Given the description of an element on the screen output the (x, y) to click on. 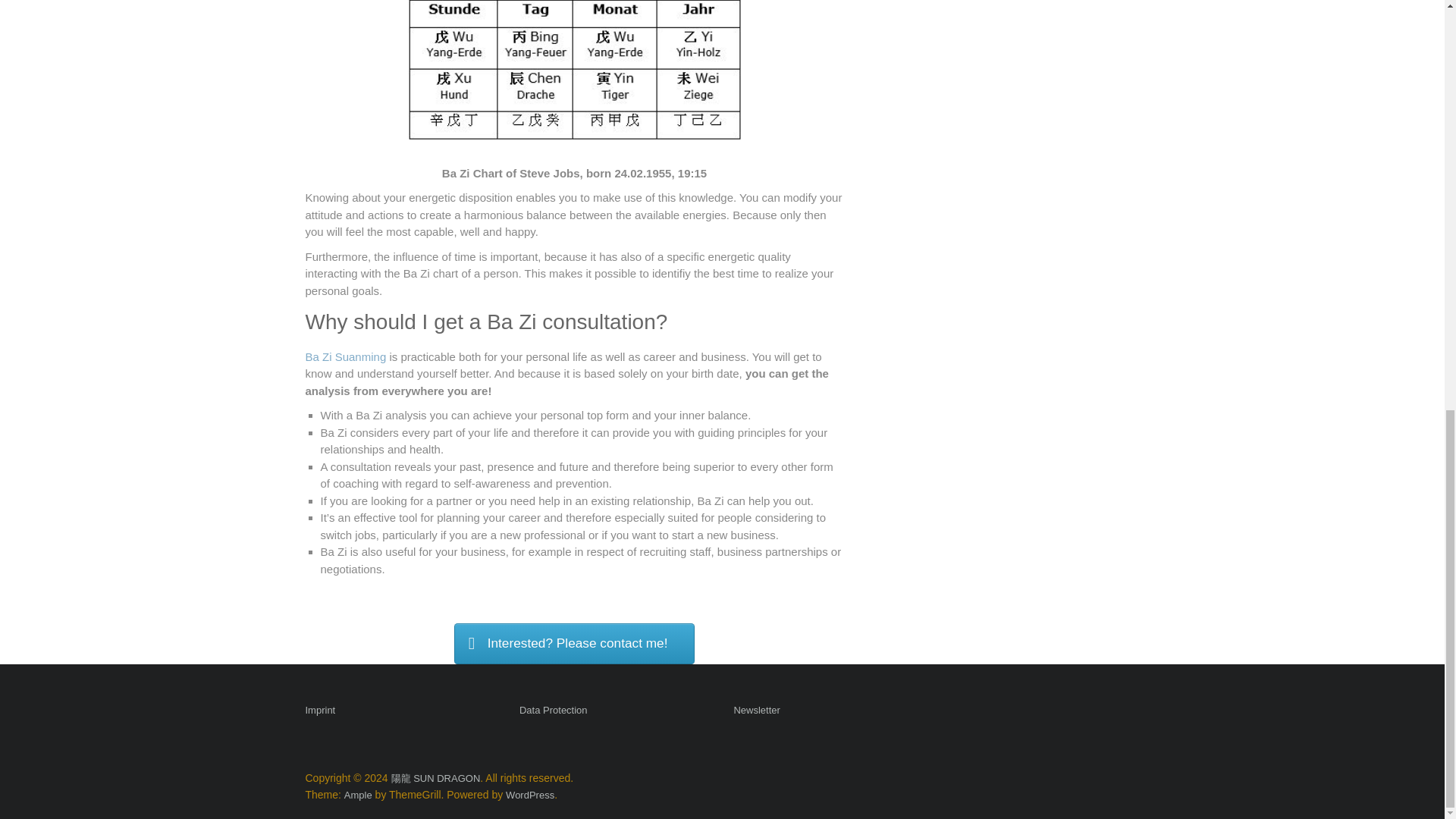
Interested? Please contact me! (574, 643)
Ample (357, 794)
Ba Zi Suanming (344, 356)
Imprint (319, 711)
Data Protection (553, 711)
Ample (357, 794)
WordPress (529, 794)
WordPress (529, 794)
Newsletter (755, 711)
